Given the description of an element on the screen output the (x, y) to click on. 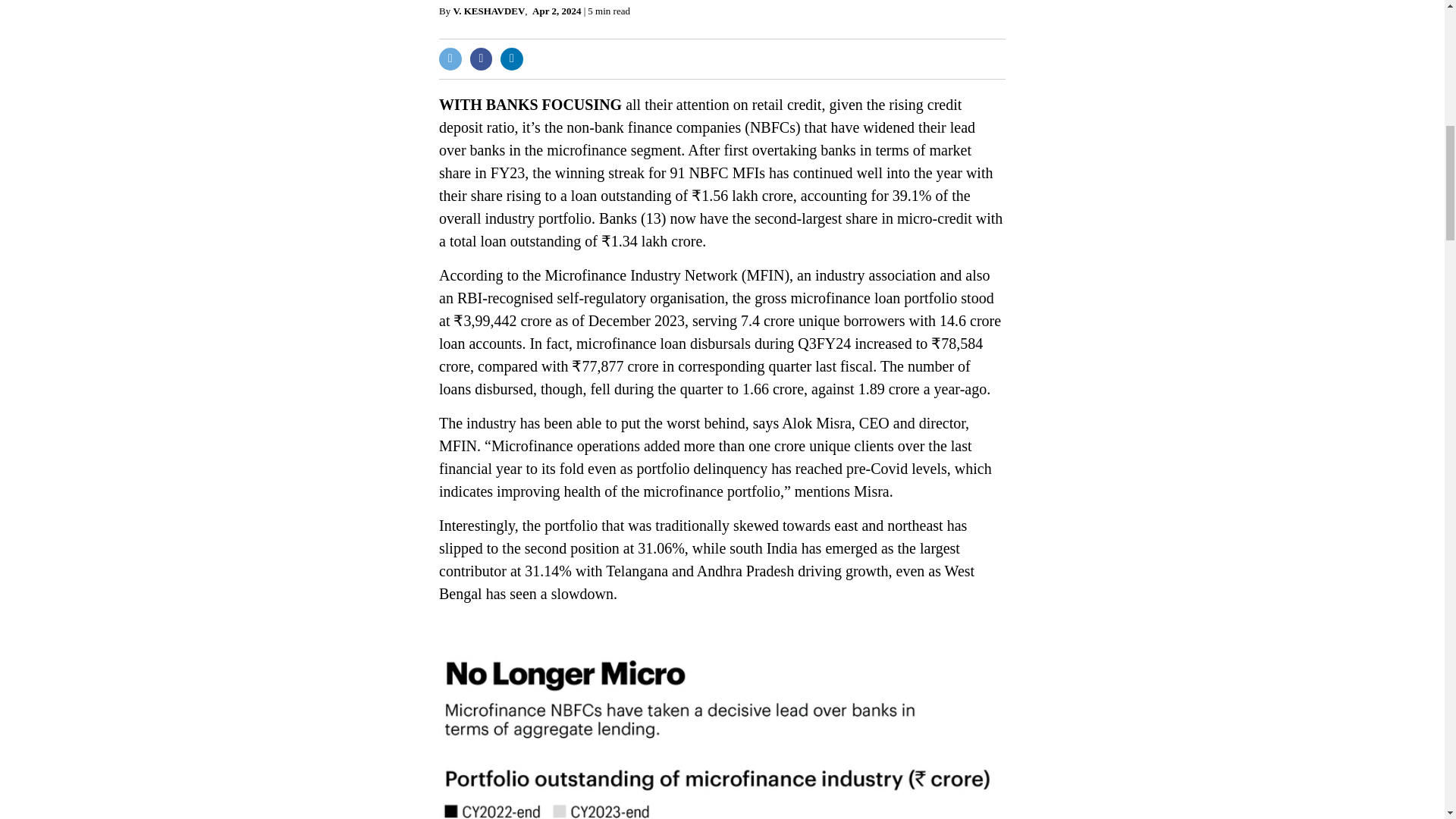
V. Keshavdev (488, 10)
Linkedin (511, 58)
Twitter (450, 58)
Facebook (481, 58)
